Given the description of an element on the screen output the (x, y) to click on. 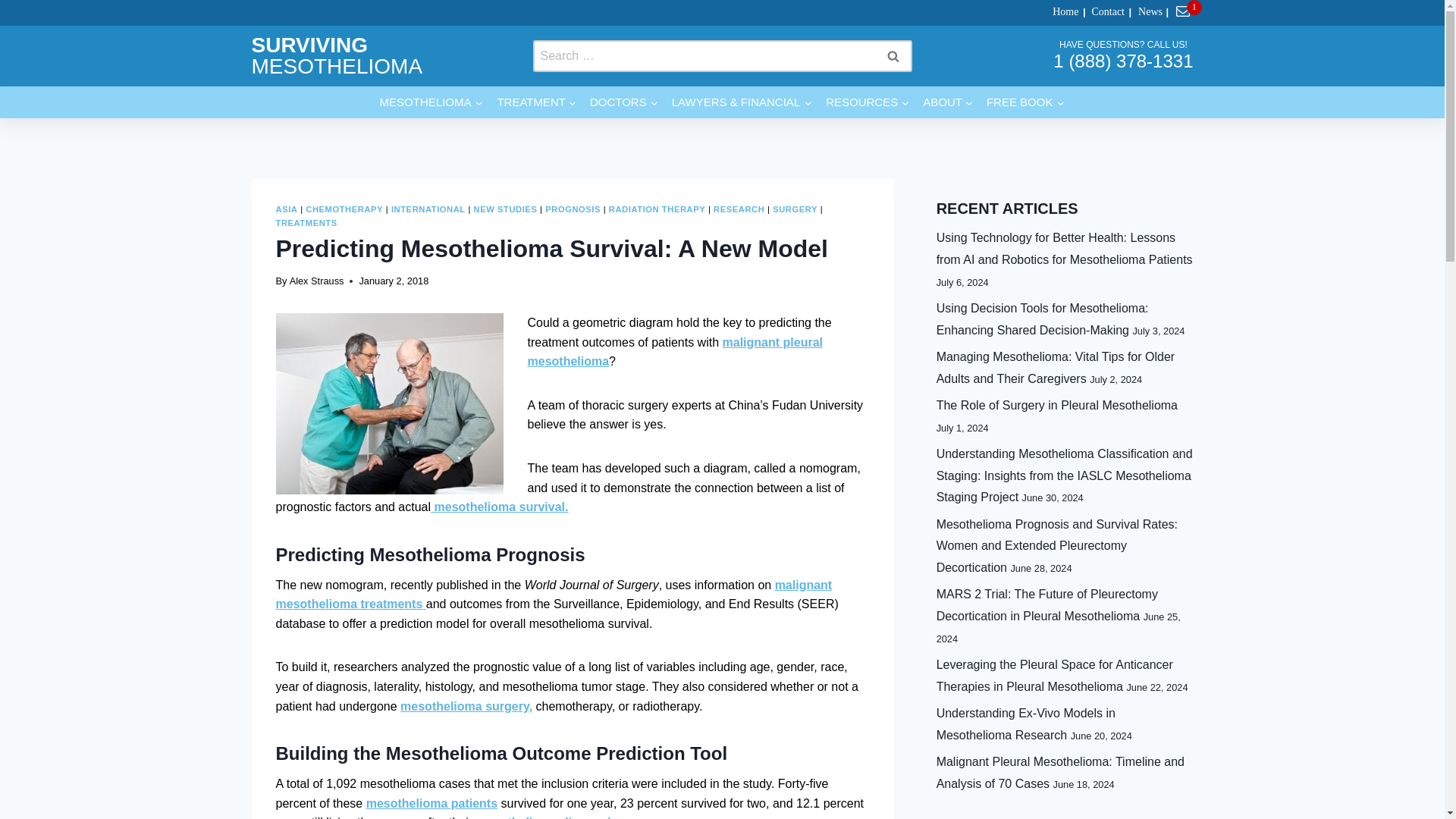
MESOTHELIOMA (430, 101)
News (1144, 12)
Search (892, 56)
Notifications (1185, 12)
Home (1060, 12)
Search (892, 56)
SURVIVING MESOTHELIOMA (337, 55)
Contact (1102, 12)
Search (892, 56)
Call Surviving Mesothelioma (1122, 60)
